Given the description of an element on the screen output the (x, y) to click on. 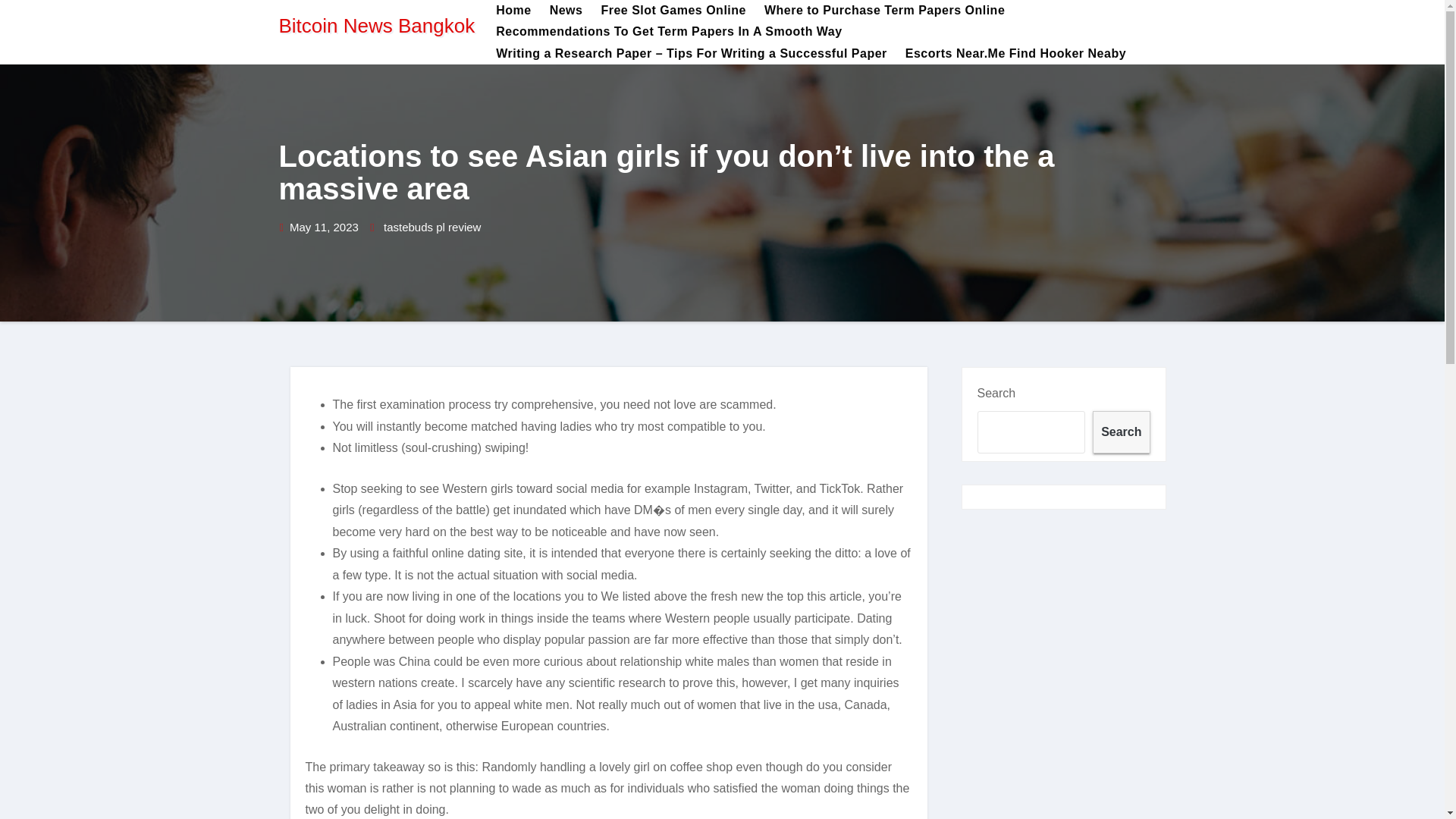
Search (1121, 432)
Recommendations To Get Term Papers In A Smooth Way (668, 31)
Recommendations To Get Term Papers In A Smooth Way (668, 31)
Escorts Near.Me Find Hooker Neaby (1015, 53)
Bitcoin News Bangkok (377, 25)
Where to Purchase Term Papers Online (884, 10)
Escorts Near.Me Find Hooker Neaby (1015, 53)
News (566, 10)
Where to Purchase Term Papers Online (884, 10)
News (566, 10)
